Given the description of an element on the screen output the (x, y) to click on. 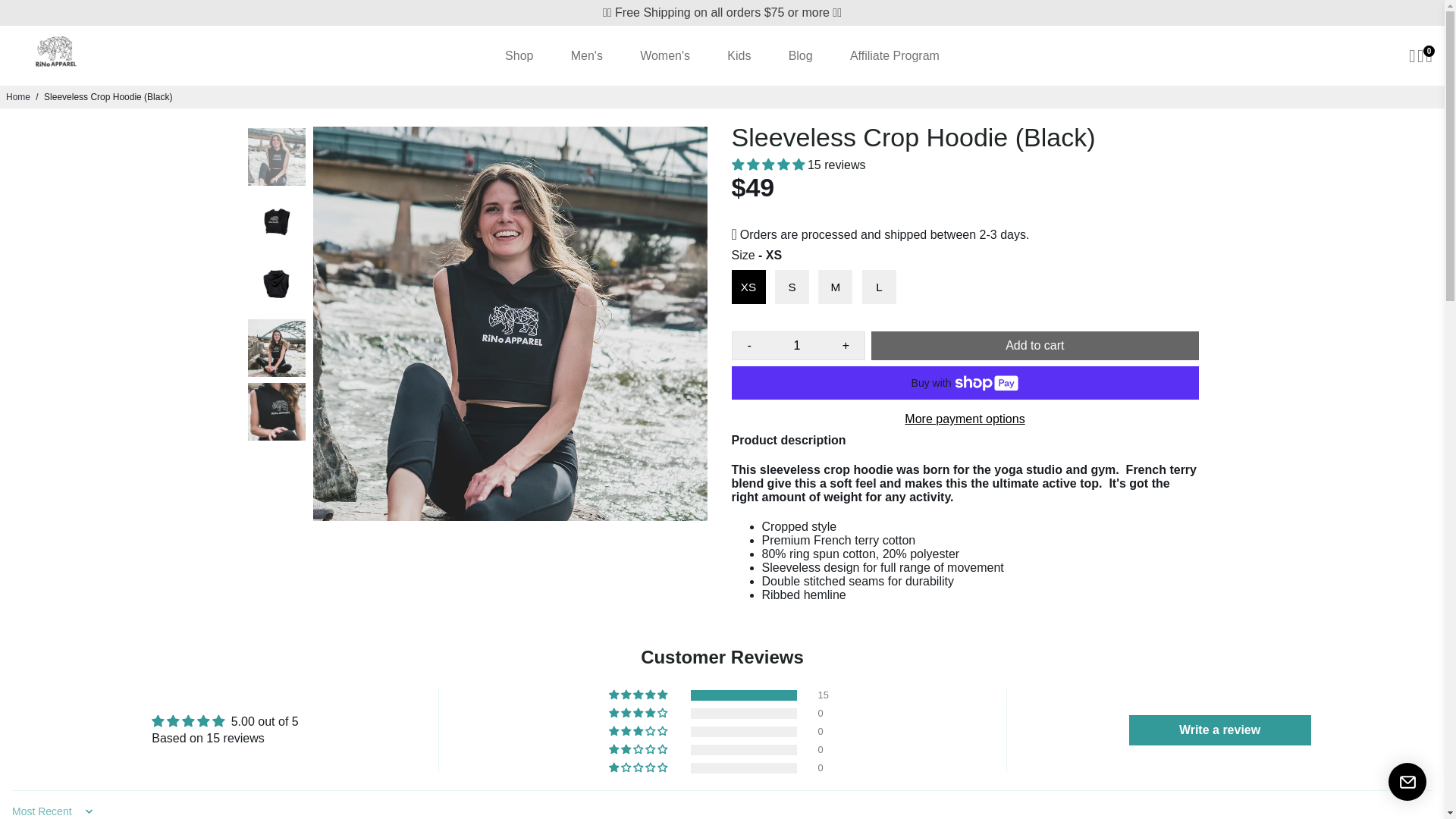
Home (17, 96)
Affiliate Program (894, 55)
- (749, 345)
Kids (738, 55)
Men's (586, 55)
Women's (664, 55)
More payment options (964, 418)
Men 1 (586, 55)
1 (797, 345)
News (800, 55)
Add to cart (1034, 345)
RiNo Apparel (518, 55)
Collab (894, 55)
Kids (738, 55)
Write a review (1220, 729)
